Given the description of an element on the screen output the (x, y) to click on. 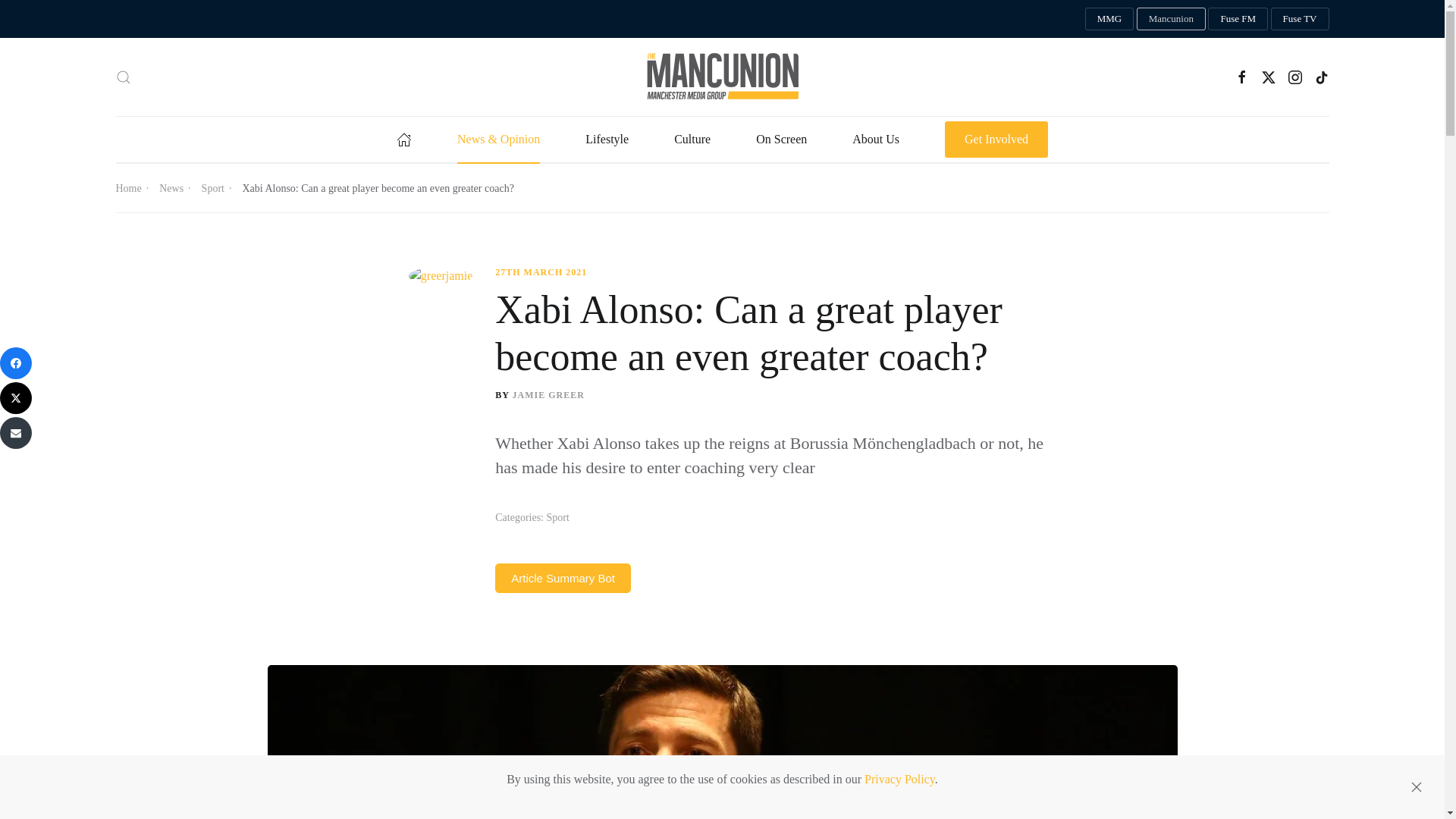
Manchester University Mancunion Newspaper (1171, 18)
Fuse FM (1238, 18)
Posts by Jamie Greer (547, 394)
Manchester Fuse FM (1238, 18)
Manchester Media Group (1109, 18)
MMG (1109, 18)
Fuse TV (1300, 18)
Manchester Fuse TV (1300, 18)
Mancunion (1171, 18)
